Given the description of an element on the screen output the (x, y) to click on. 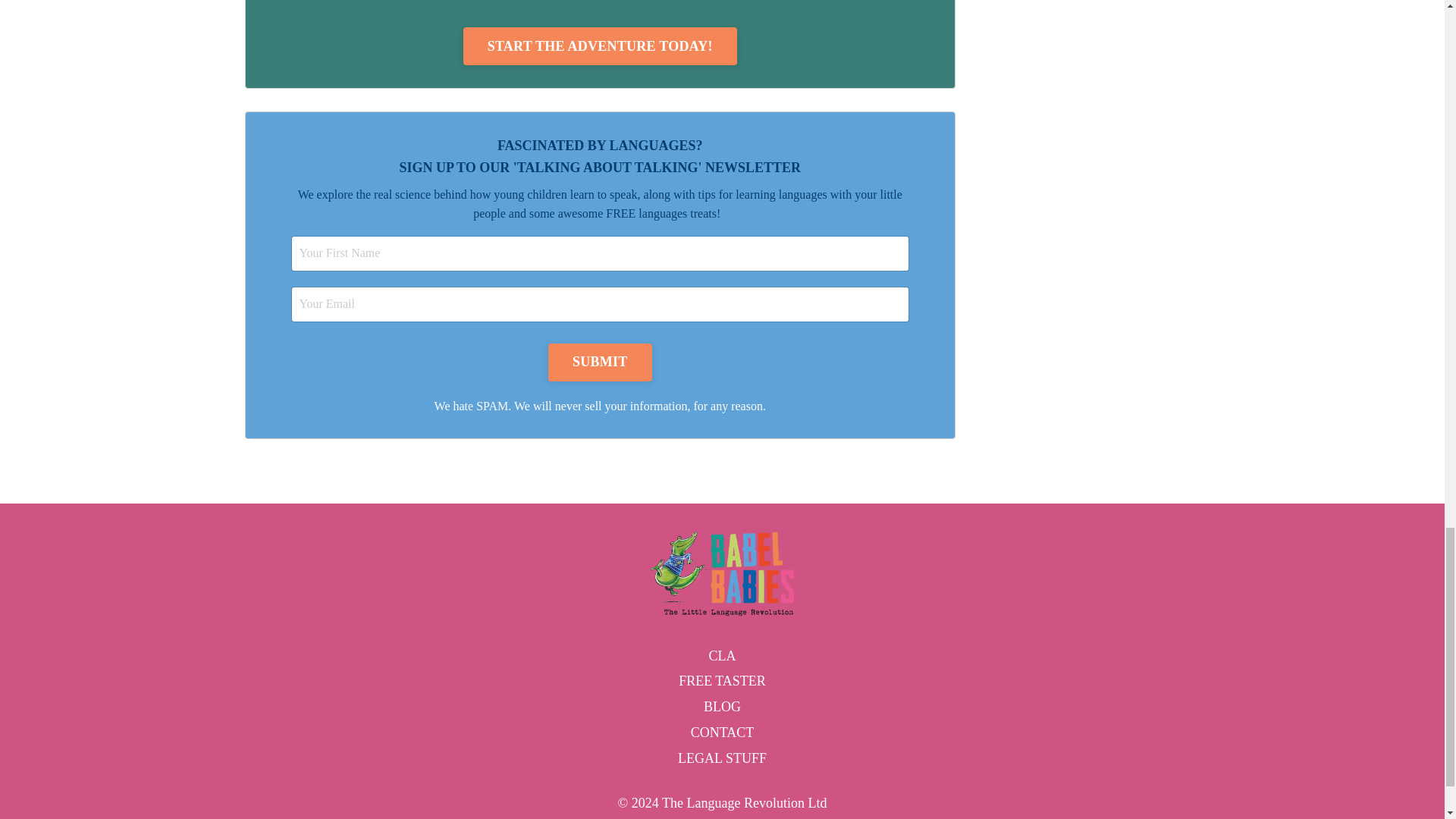
FREE TASTER (721, 681)
BLOG (721, 707)
SUBMIT (600, 362)
CLA (721, 656)
CONTACT (721, 732)
START THE ADVENTURE TODAY! (599, 46)
SUBMIT (600, 362)
